Given the description of an element on the screen output the (x, y) to click on. 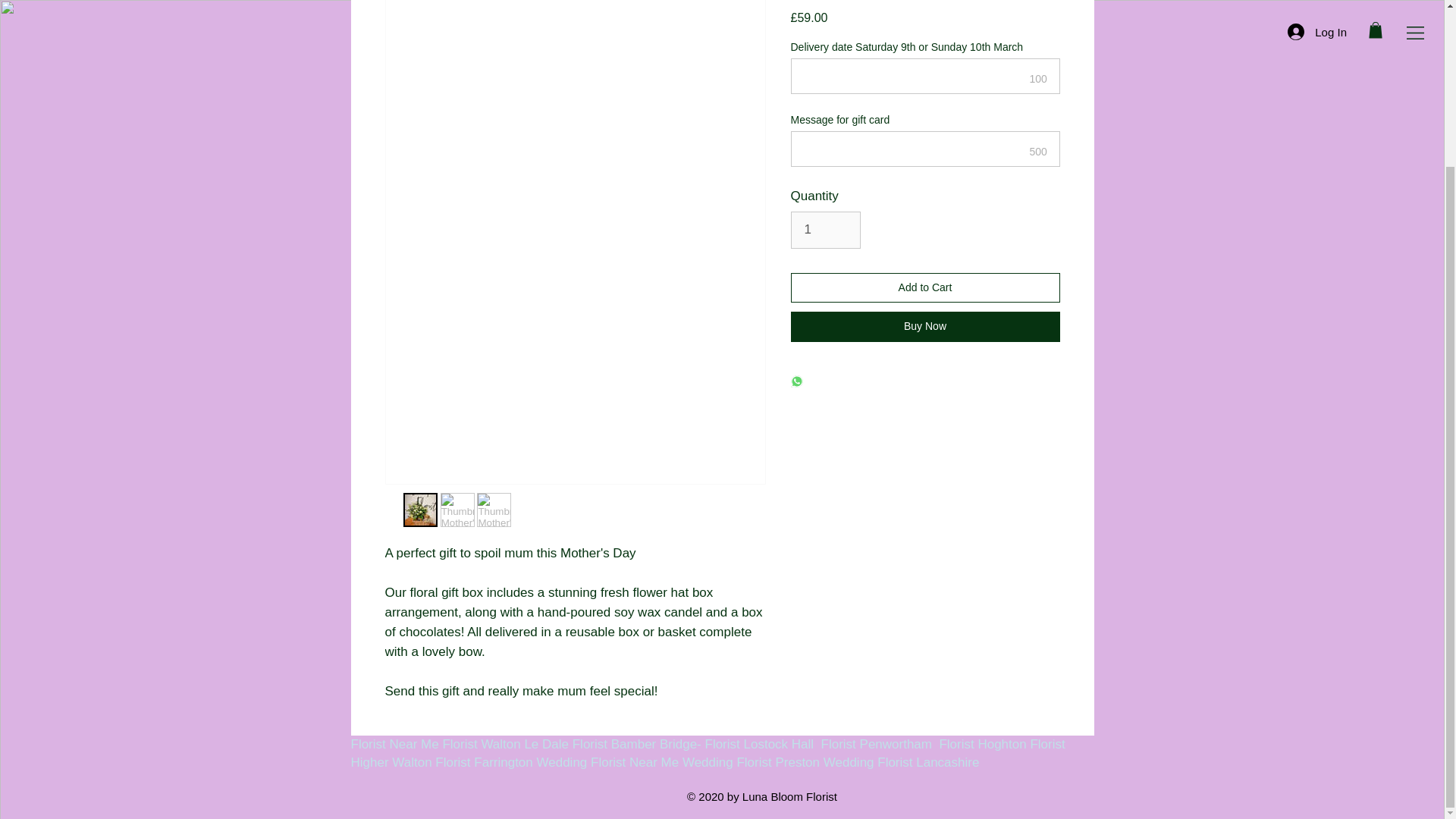
Buy Now (924, 327)
Add to Cart (924, 287)
1 (825, 229)
